Given the description of an element on the screen output the (x, y) to click on. 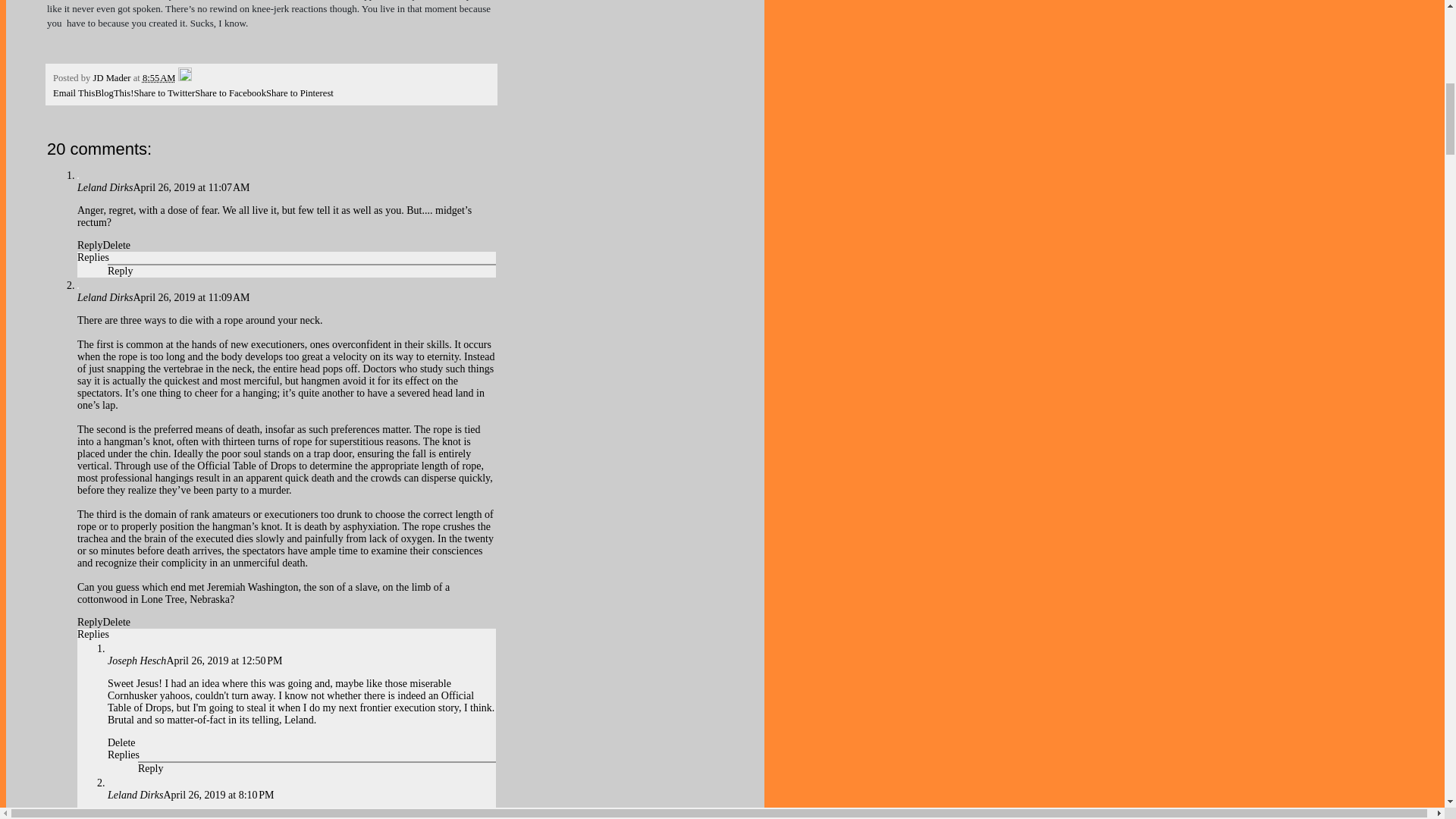
Share to Pinterest (299, 92)
Email This (73, 92)
Share to Pinterest (299, 92)
Replies (93, 633)
Leland Dirks (135, 794)
Edit Post (184, 77)
BlogThis! (113, 92)
Reply (150, 767)
Email This (73, 92)
Delete (116, 244)
Reply (89, 244)
Share to Facebook (230, 92)
